Given the description of an element on the screen output the (x, y) to click on. 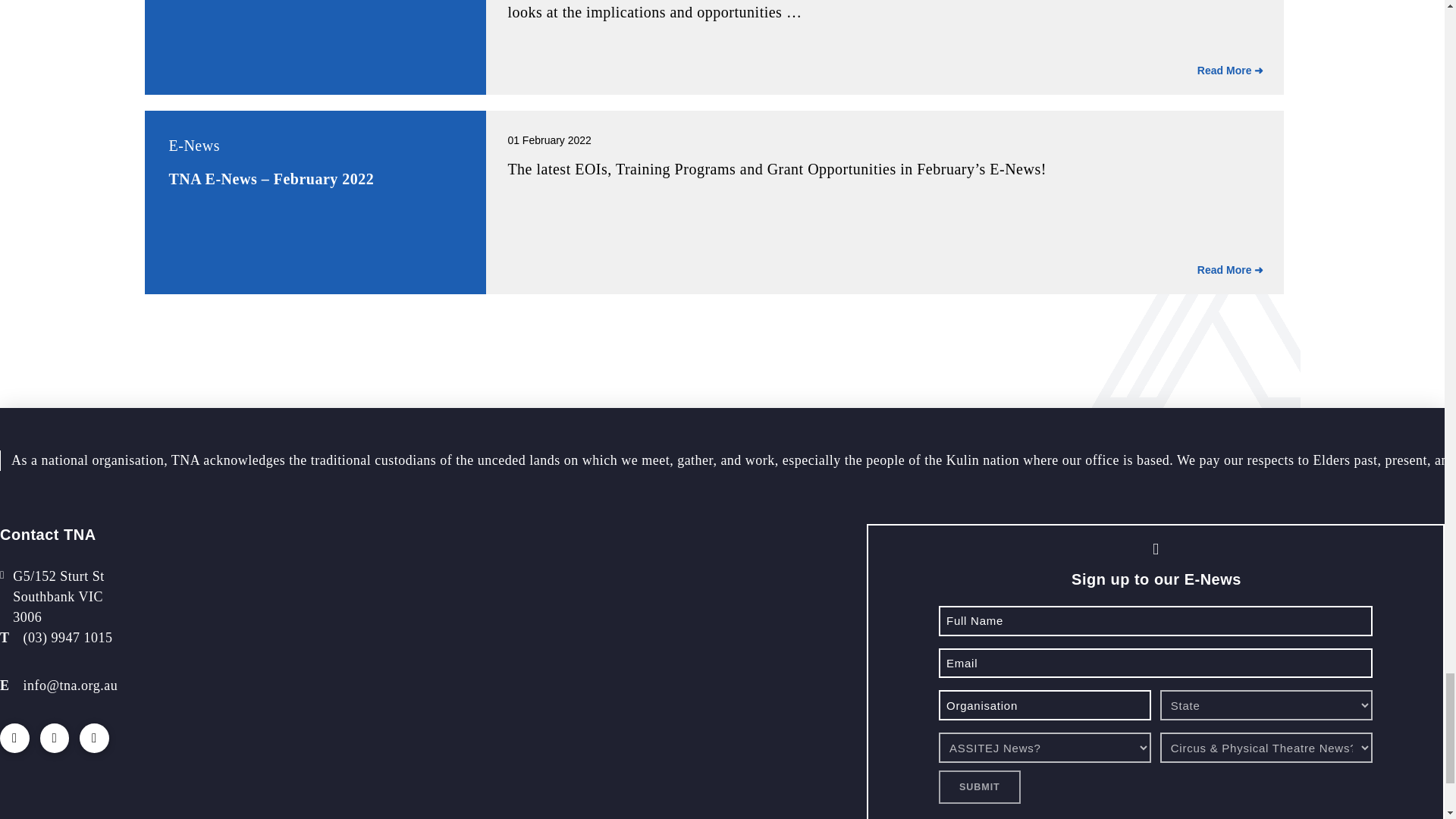
Read More (1230, 71)
Read More (1230, 270)
Submit (979, 786)
